Given the description of an element on the screen output the (x, y) to click on. 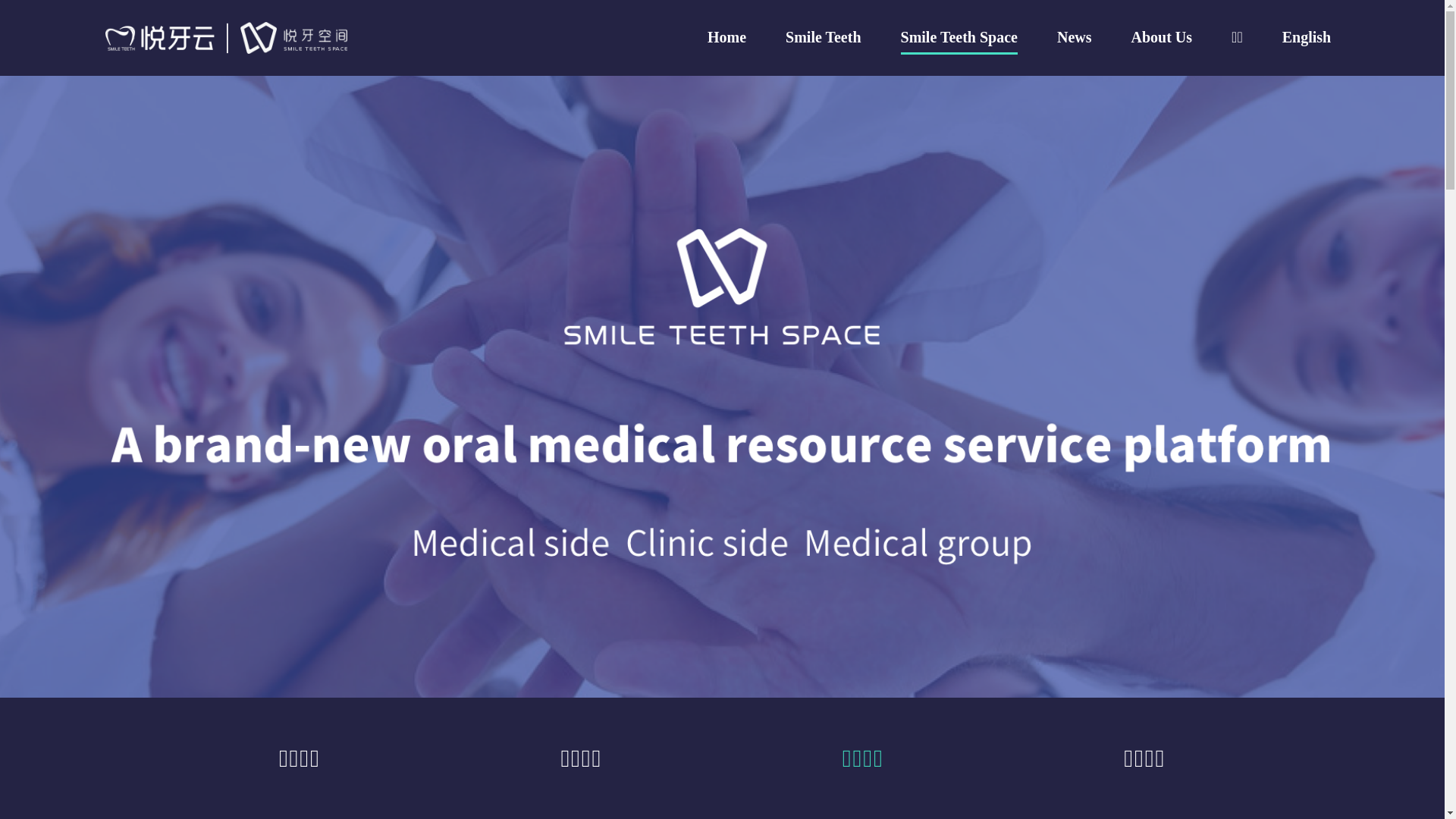
English Element type: text (1306, 37)
